Given the description of an element on the screen output the (x, y) to click on. 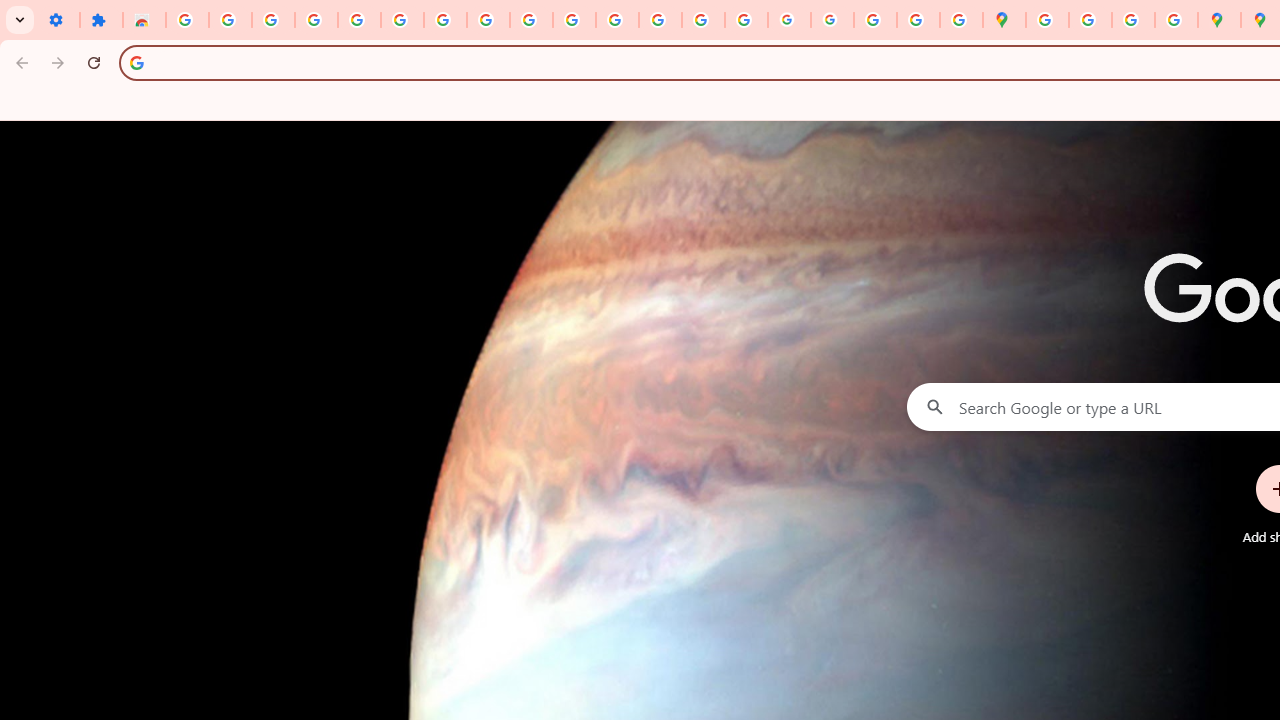
Safety in Our Products - Google Safety Center (1176, 20)
Sign in - Google Accounts (187, 20)
Google Account (488, 20)
https://scholar.google.com/ (617, 20)
